Given the description of an element on the screen output the (x, y) to click on. 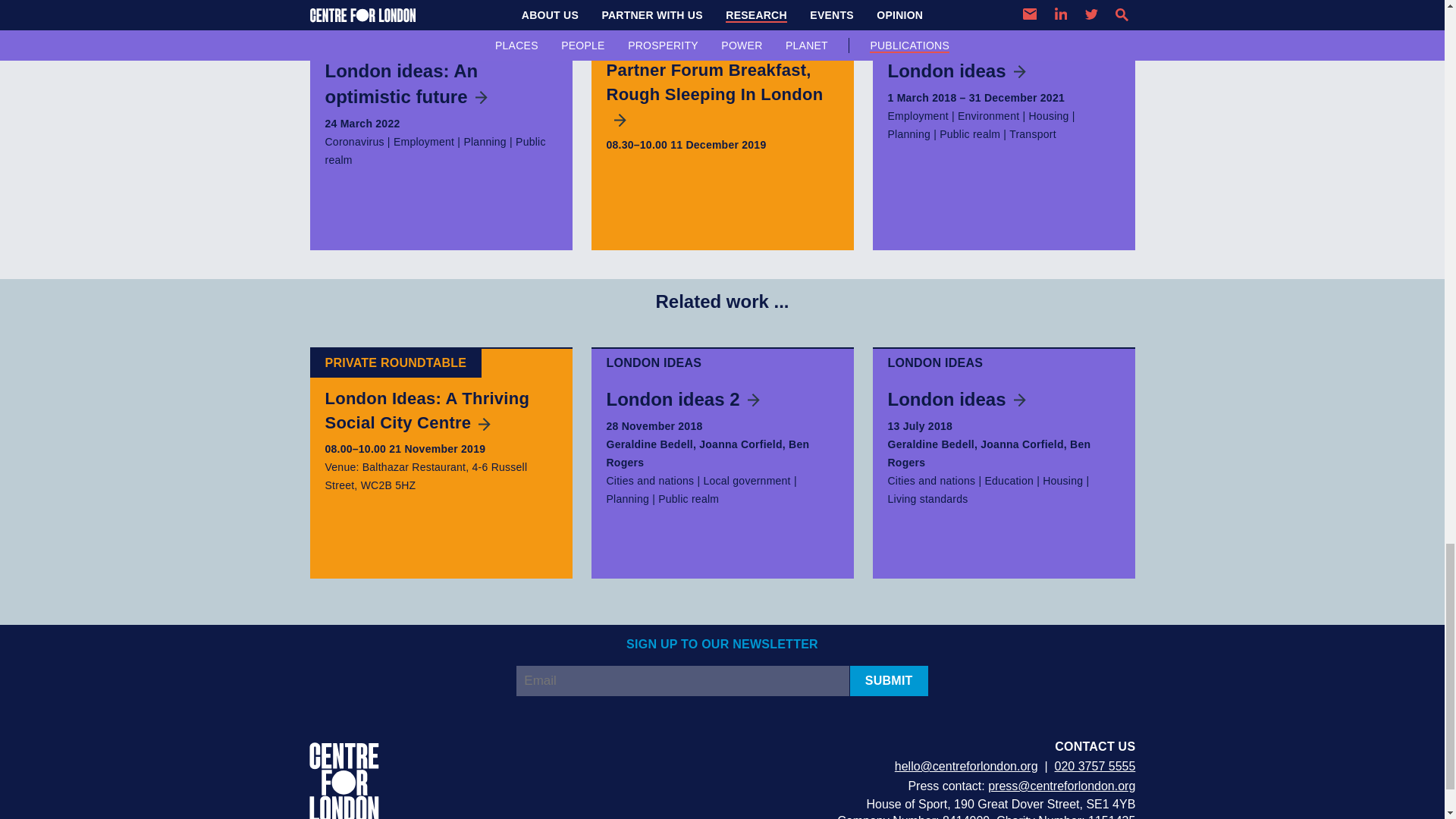
Search for content tagged as Employment (916, 115)
Search for content tagged as Transport (1033, 133)
Search for content tagged as Public realm (969, 133)
Search for content tagged as Cities and nations (650, 480)
Search for content tagged as Employment (423, 141)
Submit (889, 680)
Search for content tagged as Housing (1047, 115)
Search for content tagged as Coronavirus (354, 141)
Search for content tagged as Planning (484, 141)
Search for content tagged as Environment (988, 115)
Search for content tagged as Planning (908, 133)
Search for content tagged as Public realm (434, 150)
Search for content tagged as Local government (746, 480)
